Given the description of an element on the screen output the (x, y) to click on. 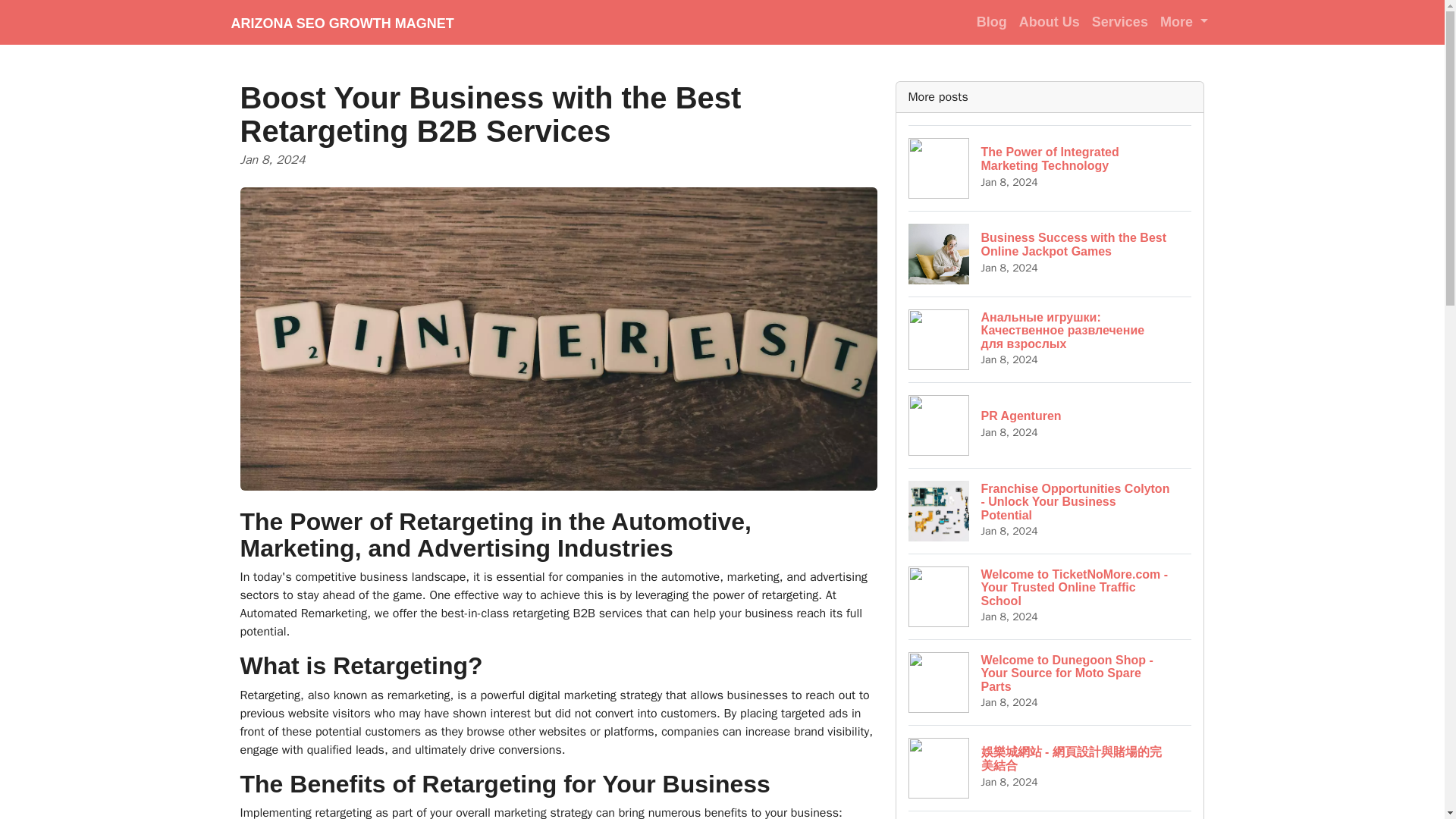
ARIZONA SEO GROWTH MAGNET (341, 22)
Services (1120, 21)
Blog (1050, 424)
More (1050, 167)
